Given the description of an element on the screen output the (x, y) to click on. 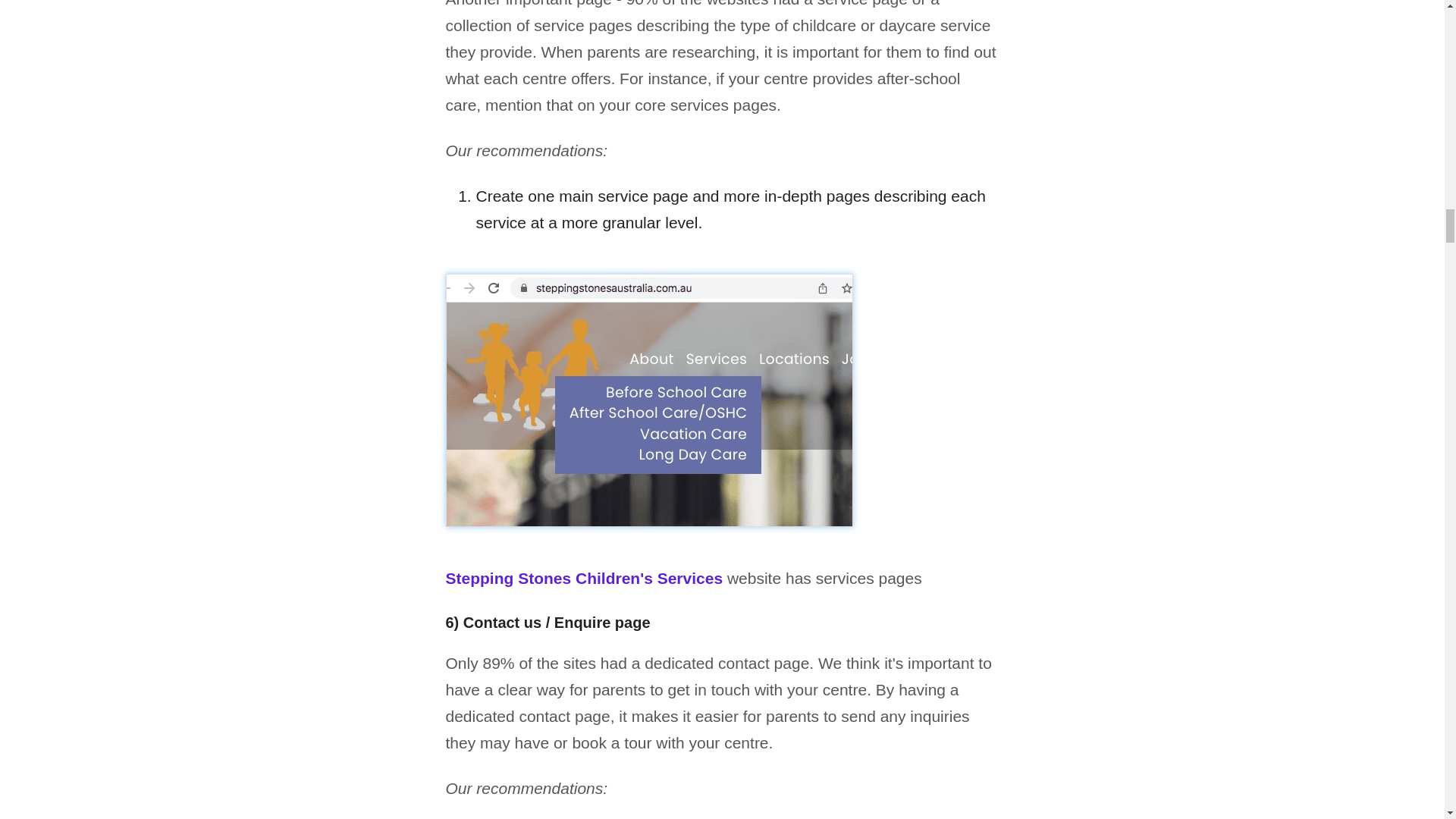
Stepping Stones Children's Services (584, 578)
